Given the description of an element on the screen output the (x, y) to click on. 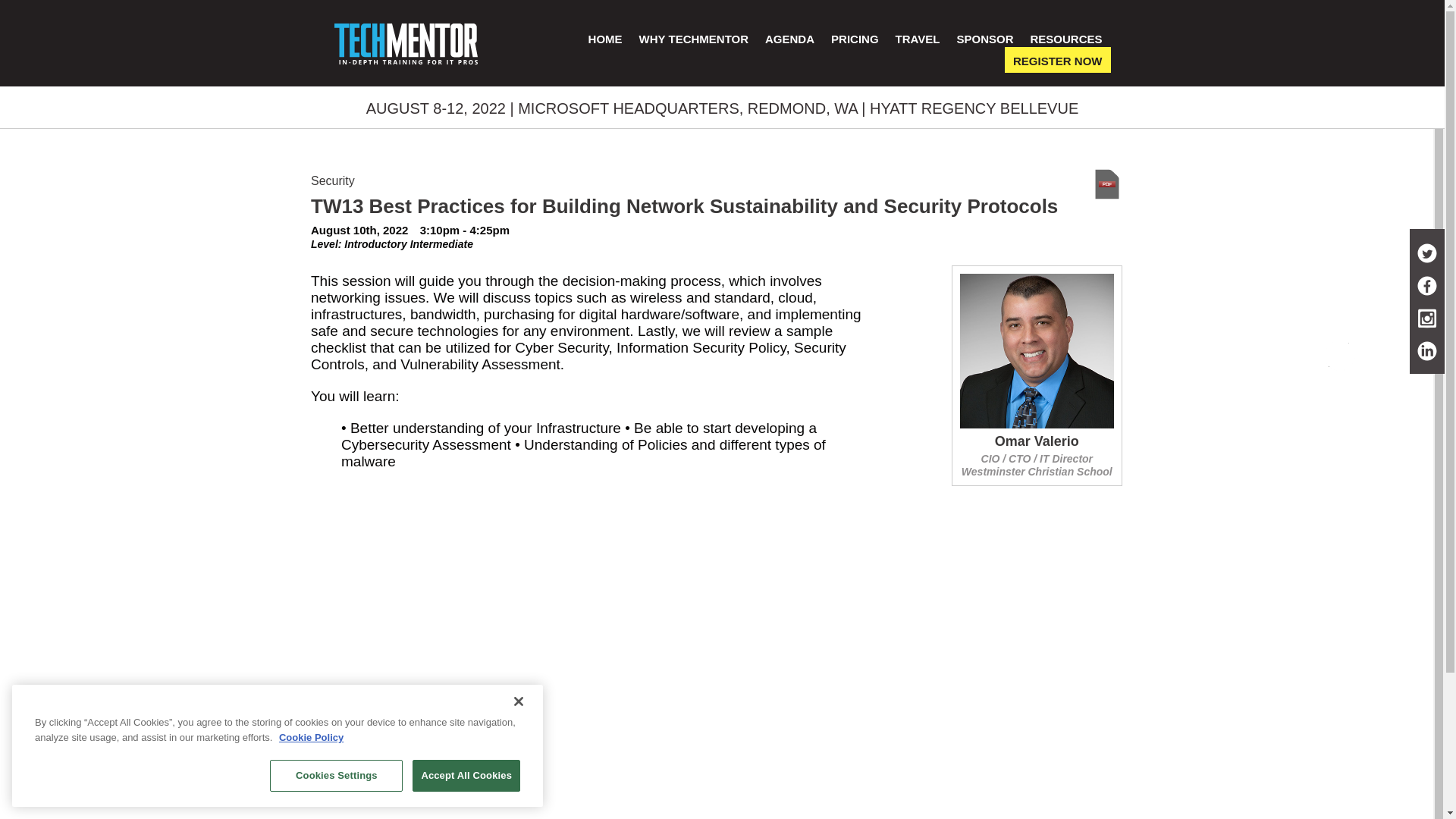
PRICING (855, 38)
RESOURCES (1065, 38)
SPONSOR (984, 38)
WHY TECHMENTOR (693, 38)
AGENDA (789, 38)
REGISTER NOW (1057, 59)
HOME (605, 38)
Omar Valerio (1036, 442)
TRAVEL (917, 38)
